Given the description of an element on the screen output the (x, y) to click on. 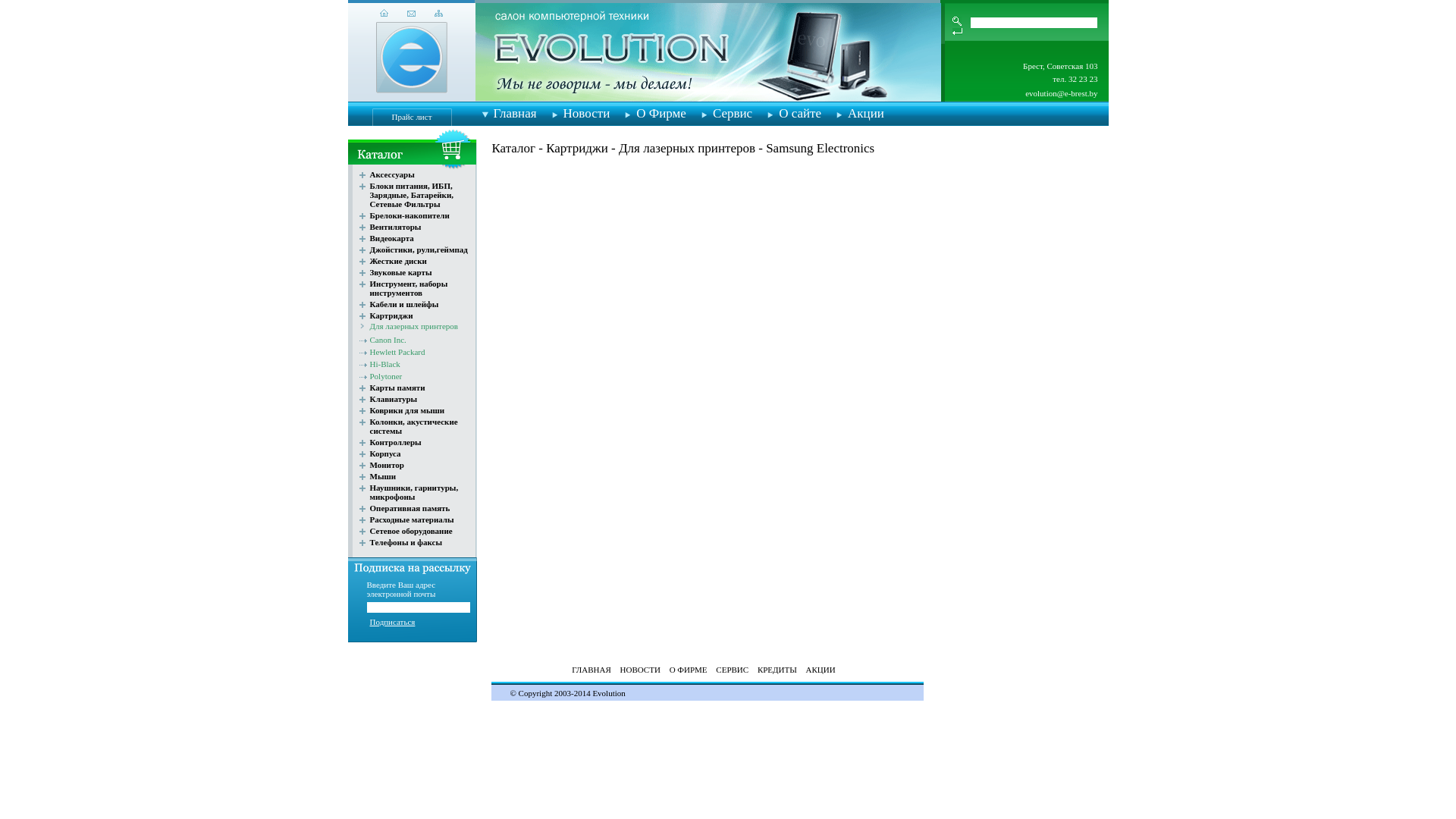
Hewlett Packard Element type: text (397, 351)
Canon Inc. Element type: text (388, 339)
Hi-Black Element type: text (385, 363)
LiveInternet Element type: hover (415, 681)
Polytoner Element type: text (386, 375)
